Given the description of an element on the screen output the (x, y) to click on. 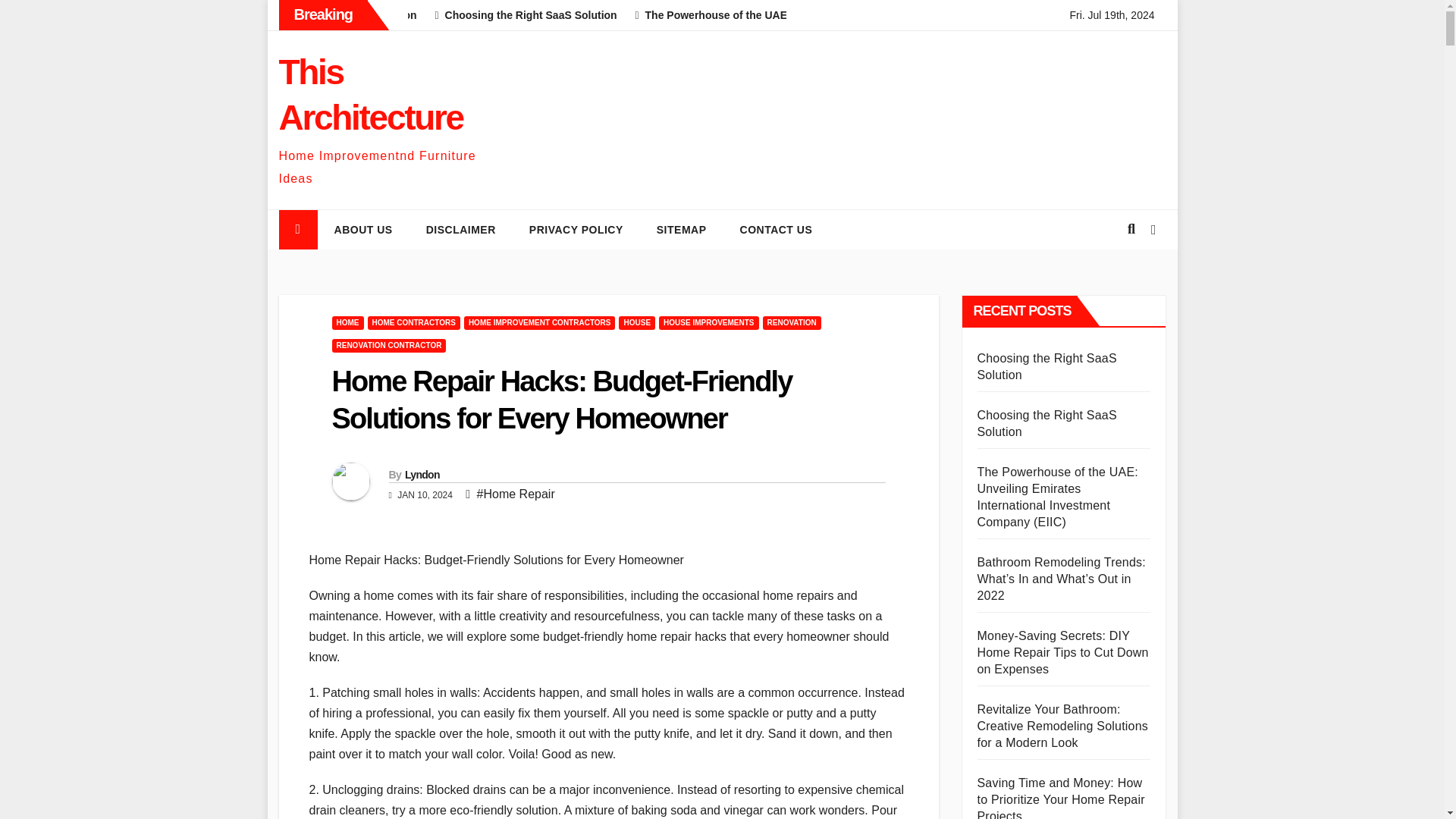
Contact US (776, 229)
DISCLAIMER (460, 229)
Sitemap (681, 229)
About Us (363, 229)
Choosing the Right SaaS Solution (702, 15)
Lyndon (421, 474)
Privacy Policy (576, 229)
HOME (347, 323)
HOUSE IMPROVEMENTS (708, 323)
RENOVATION (791, 323)
SITEMAP (681, 229)
RENOVATION CONTRACTOR (388, 345)
HOME CONTRACTORS (413, 323)
PRIVACY POLICY (576, 229)
